Given the description of an element on the screen output the (x, y) to click on. 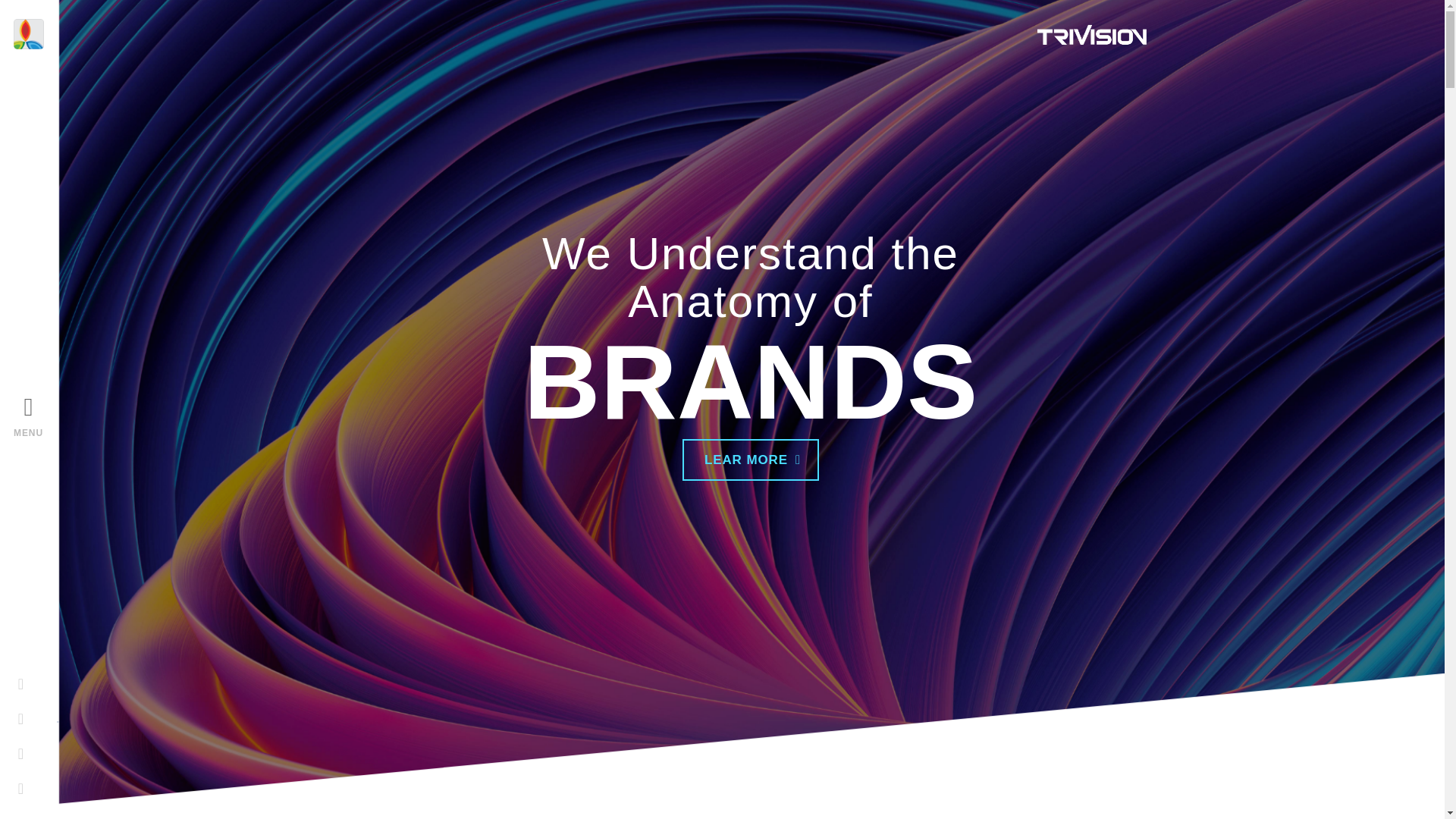
Instagram (15, 796)
Linkedin (13, 761)
LEAR MORE (750, 459)
MENU (6, 432)
